Given the description of an element on the screen output the (x, y) to click on. 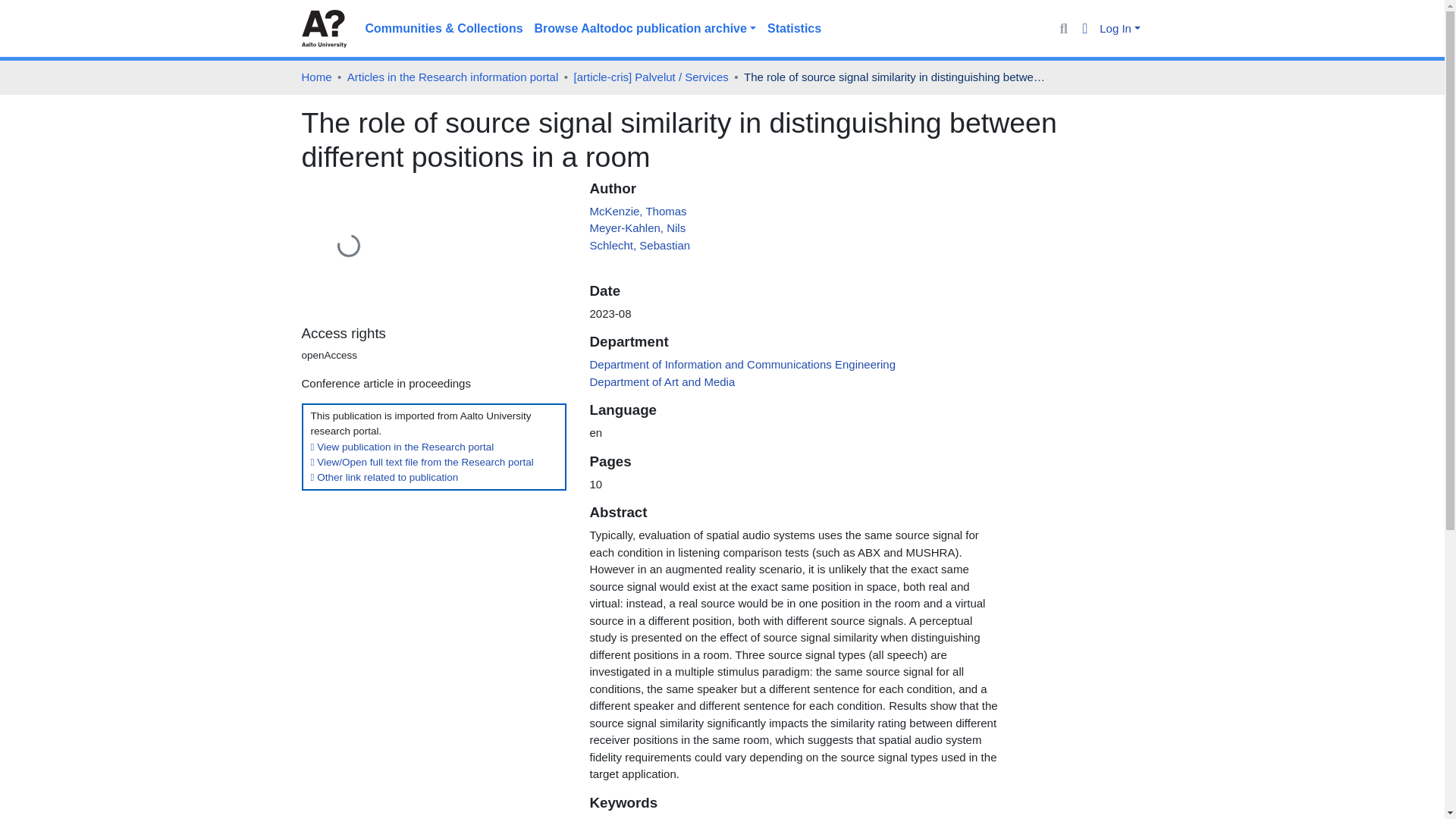
Other link related to publication (384, 477)
Statistics (794, 28)
View publication in the Research portal (403, 446)
Meyer-Kahlen, Nils (637, 227)
Search (1063, 28)
Home (316, 77)
Department of Art and Media (662, 380)
Language switch (1085, 28)
Schlecht, Sebastian (639, 244)
Articles in the Research information portal (452, 77)
Log In (1119, 28)
McKenzie, Thomas (637, 210)
Browse Aaltodoc publication archive (644, 28)
Department of Information and Communications Engineering (742, 364)
Statistics (794, 28)
